Given the description of an element on the screen output the (x, y) to click on. 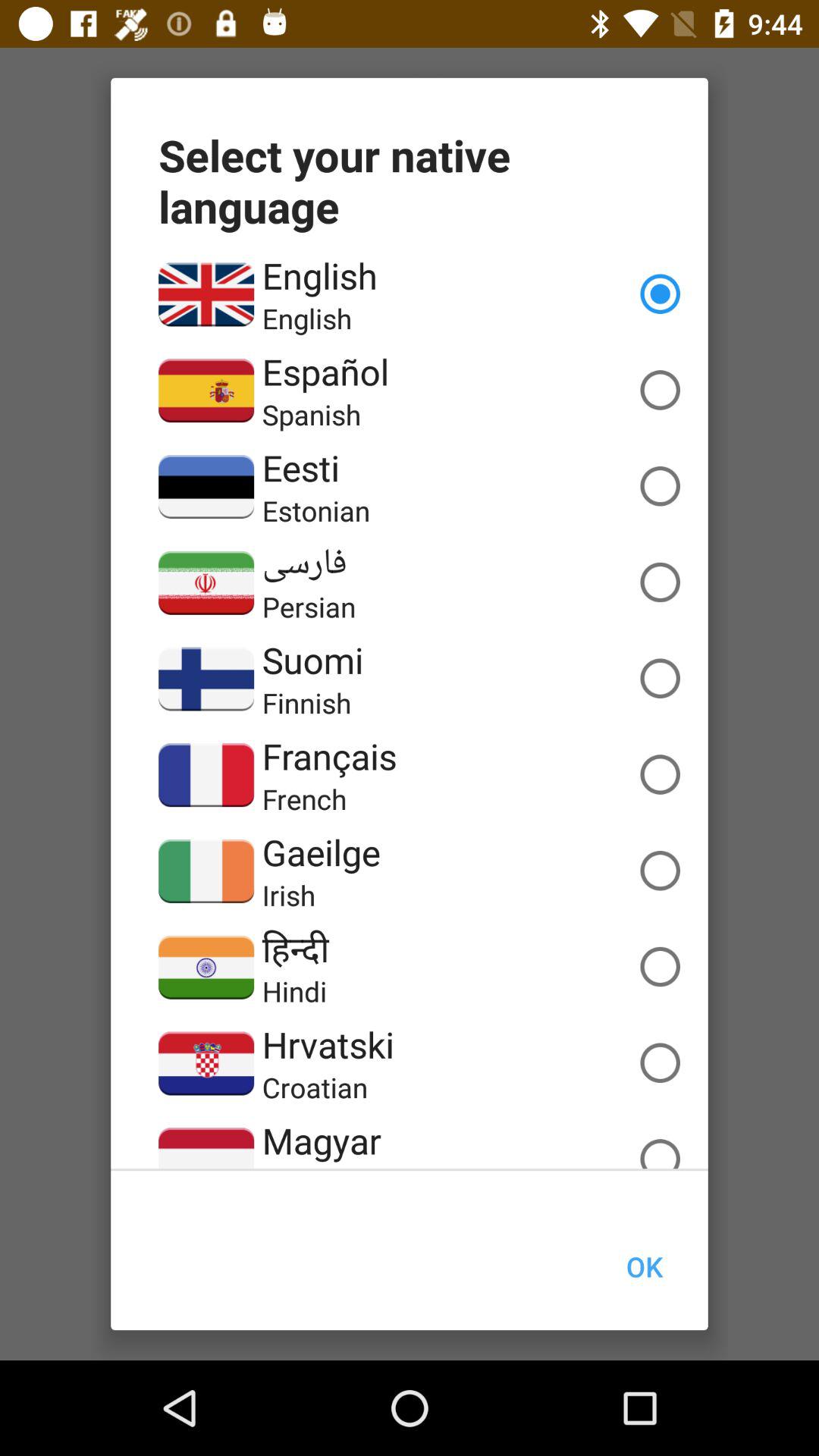
launch the item above finnish (312, 659)
